Given the description of an element on the screen output the (x, y) to click on. 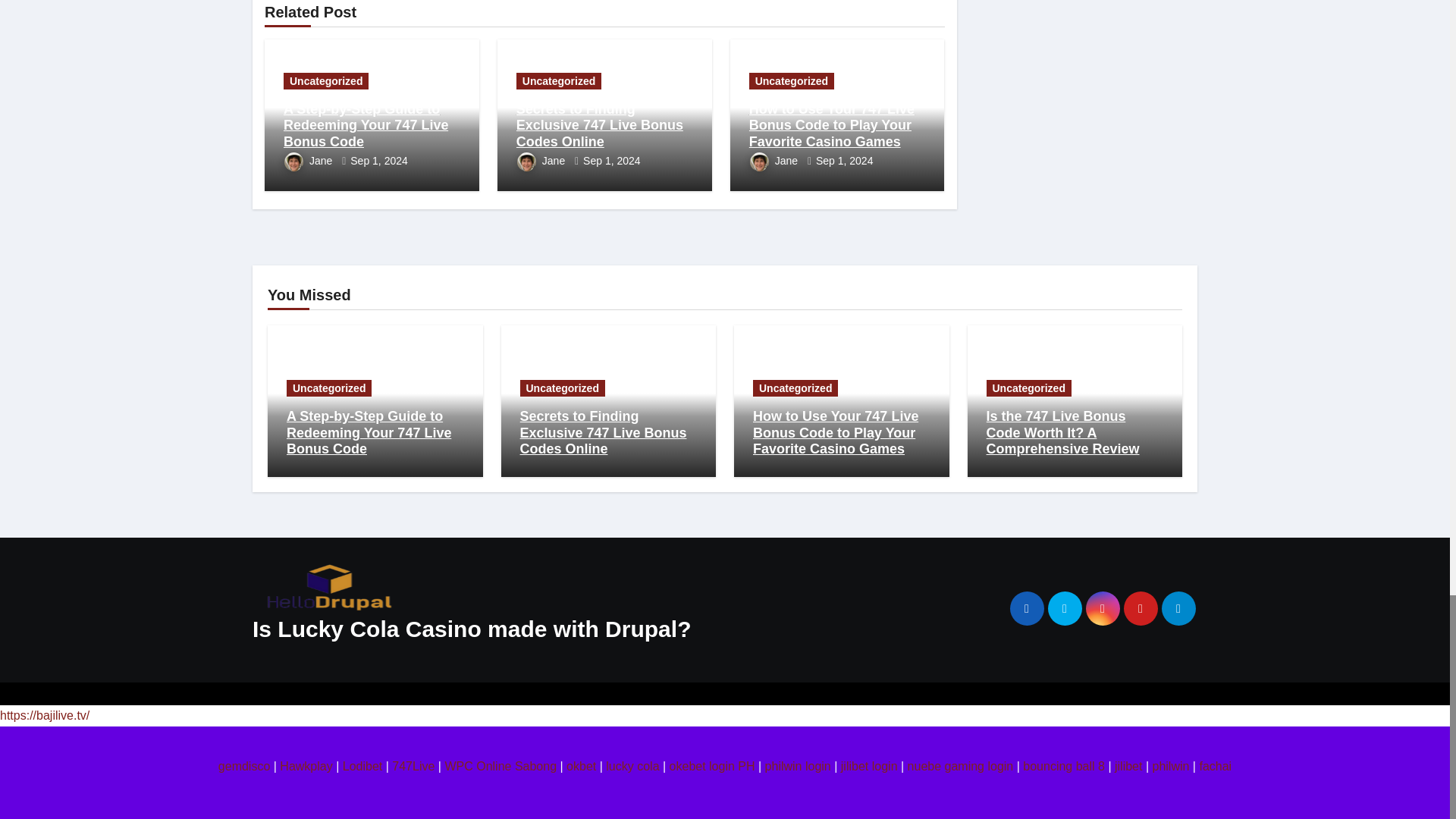
Uncategorized (325, 80)
Jane (308, 160)
A Step-by-Step Guide to Redeeming Your 747 Live Bonus Code (365, 125)
Sep 1, 2024 (378, 160)
